Given the description of an element on the screen output the (x, y) to click on. 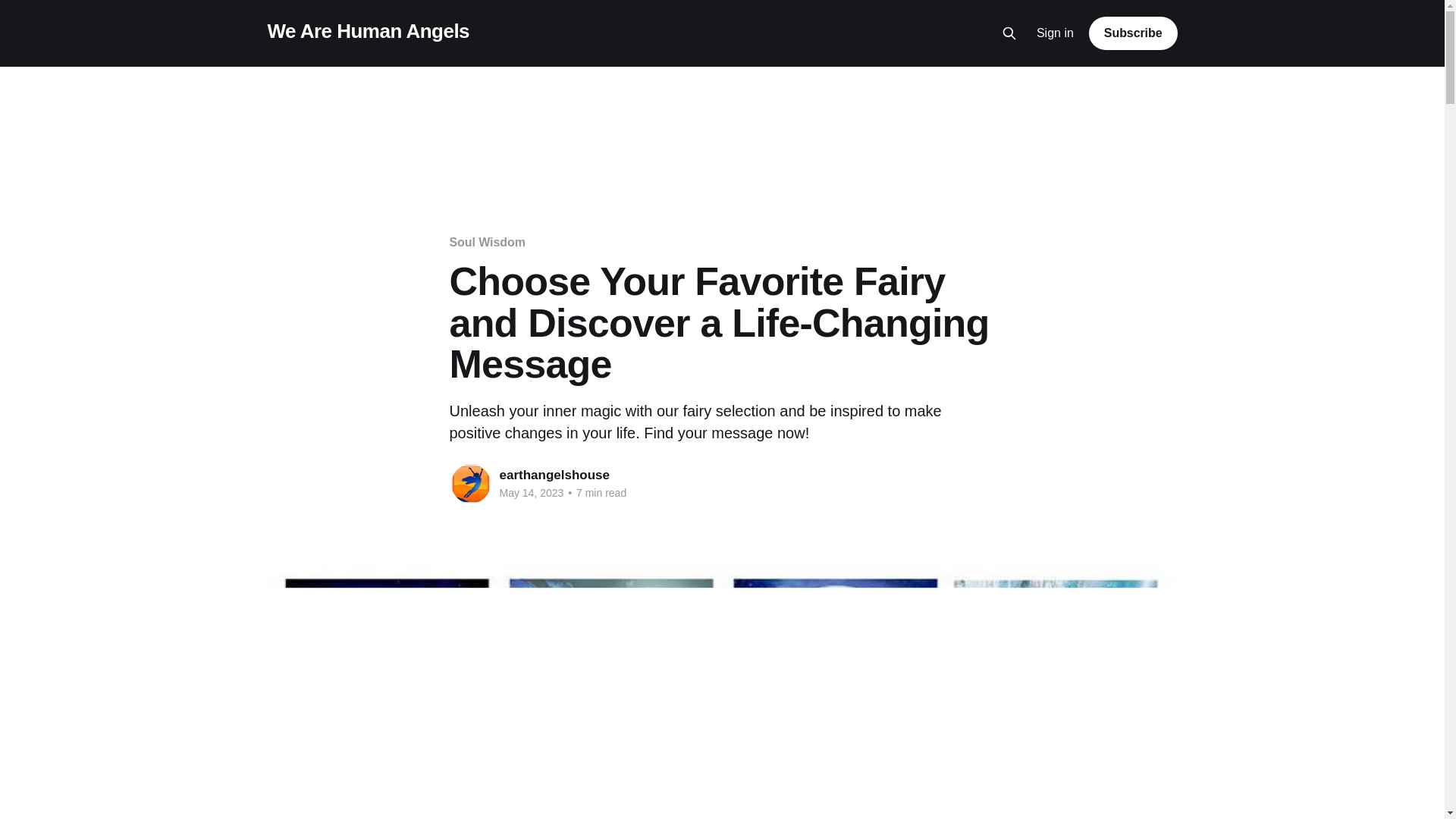
Sign in (1055, 33)
Soul Wisdom (486, 241)
Subscribe (1133, 32)
We Are Human Angels (367, 31)
earthangelshouse (554, 474)
